Given the description of an element on the screen output the (x, y) to click on. 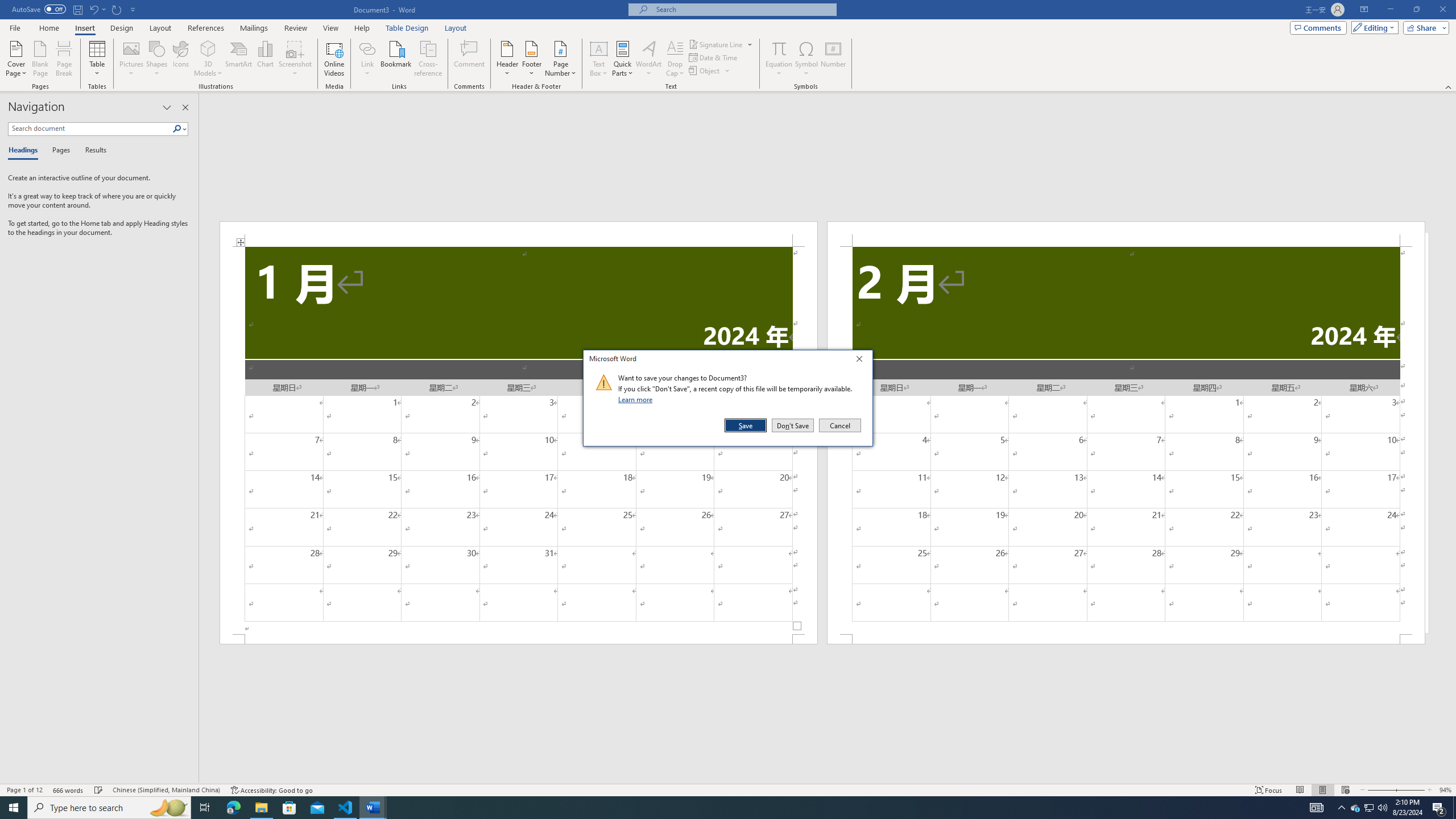
Chart... (265, 58)
Number... (833, 58)
Header (507, 58)
